Given the description of an element on the screen output the (x, y) to click on. 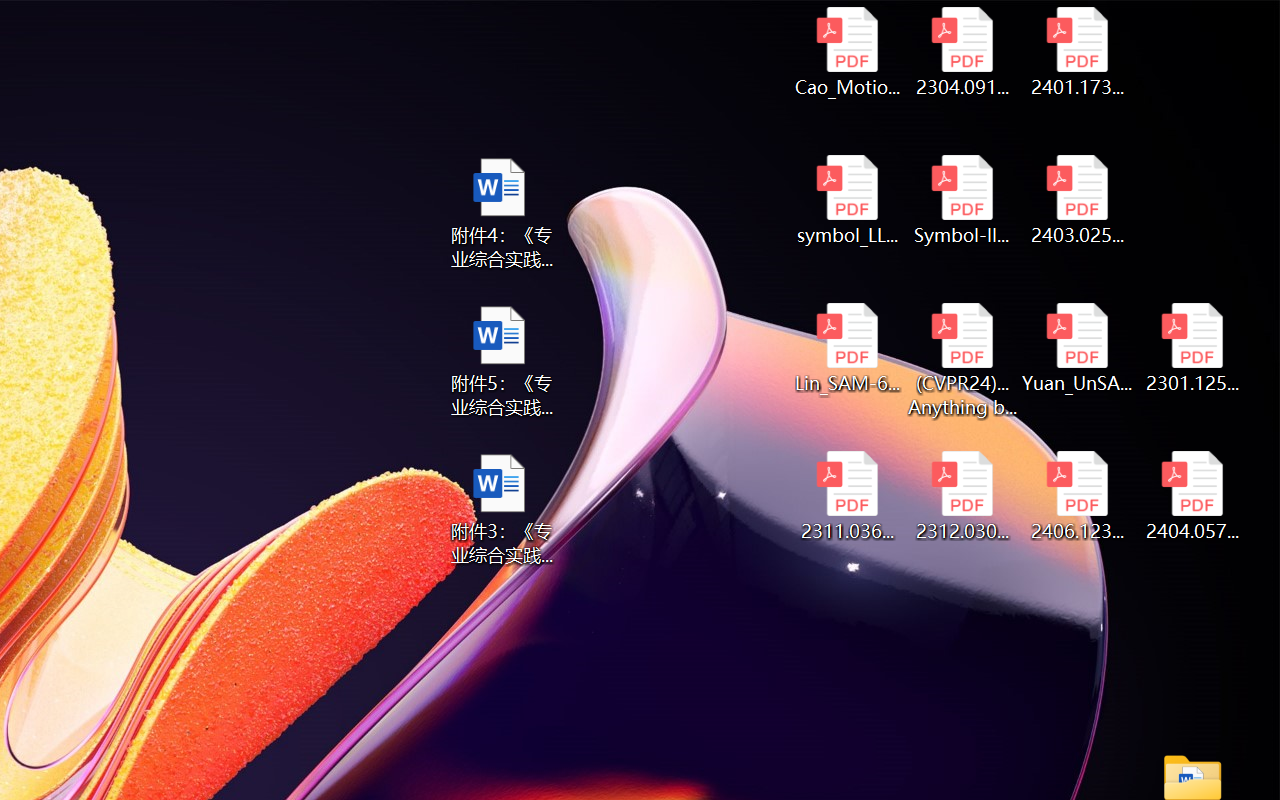
symbol_LLM.pdf (846, 200)
